Given the description of an element on the screen output the (x, y) to click on. 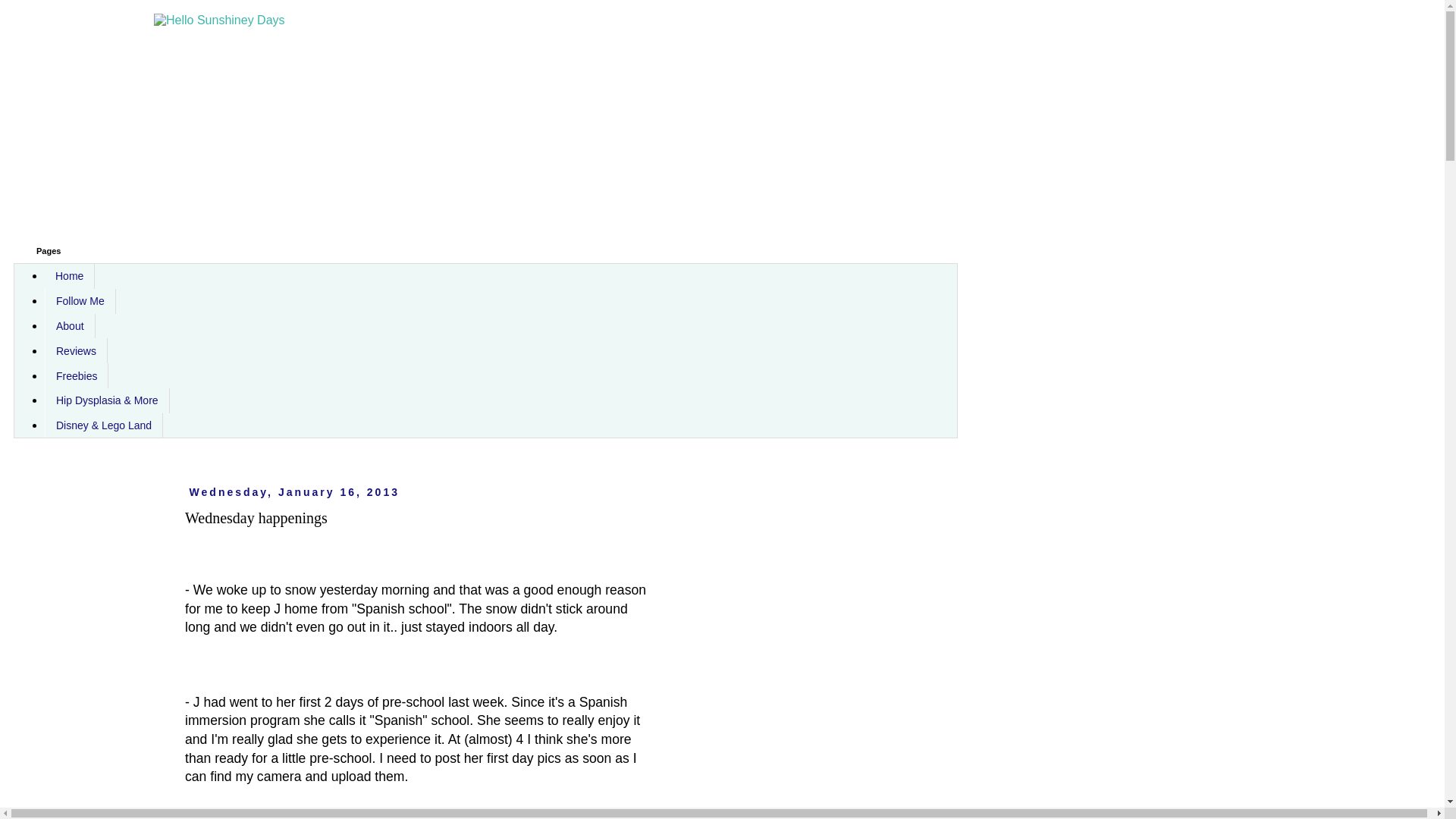
Follow Me (80, 301)
About (70, 326)
Home (69, 276)
Freebies (76, 375)
Reviews (76, 350)
